Given the description of an element on the screen output the (x, y) to click on. 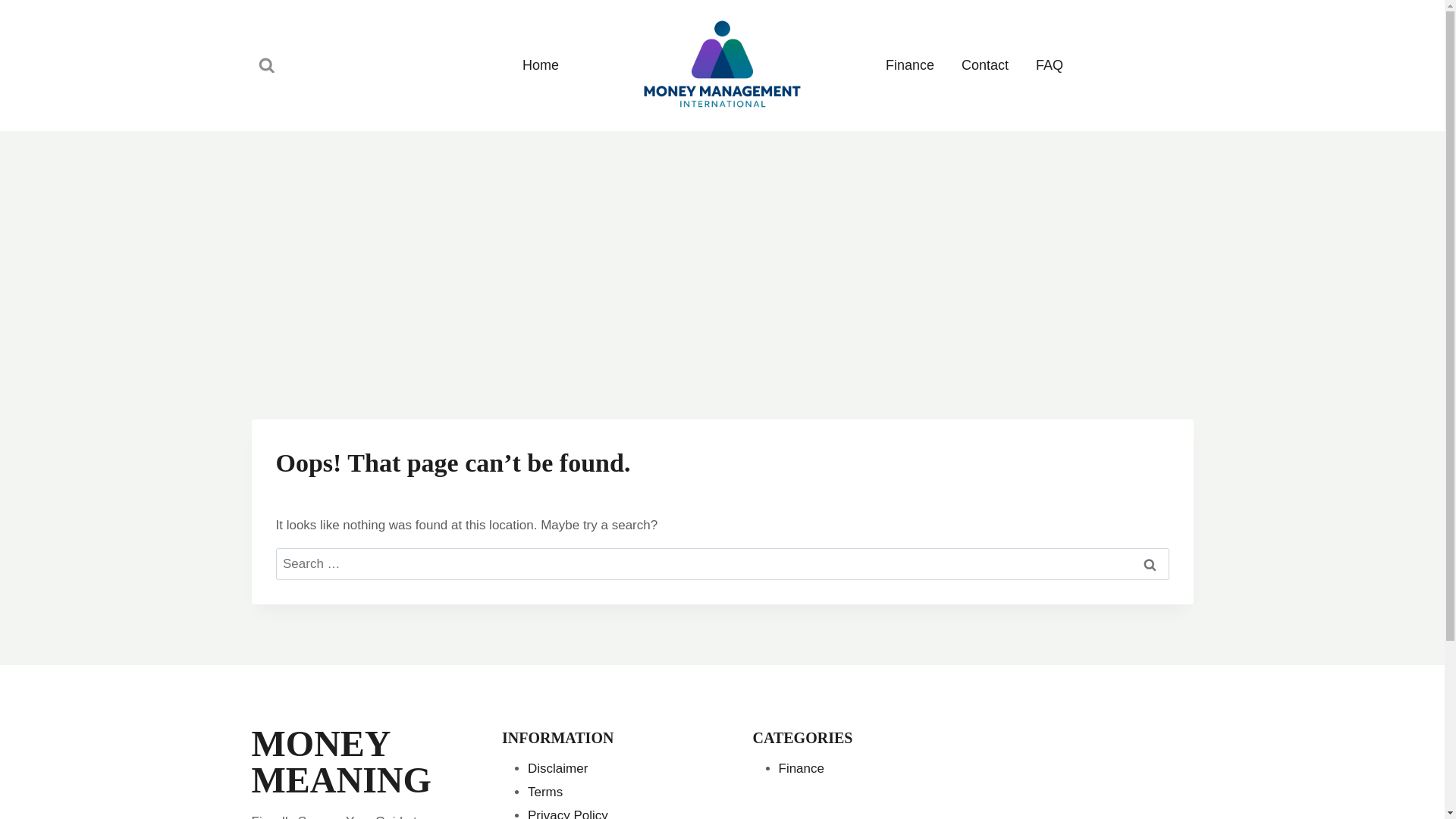
Home (540, 64)
Disclaimer (557, 768)
Search (1150, 563)
FAQ (1049, 64)
Search (1150, 563)
Contact (984, 64)
Finance (800, 768)
Terms (544, 791)
Privacy Policy (567, 813)
Finance (909, 64)
